Given the description of an element on the screen output the (x, y) to click on. 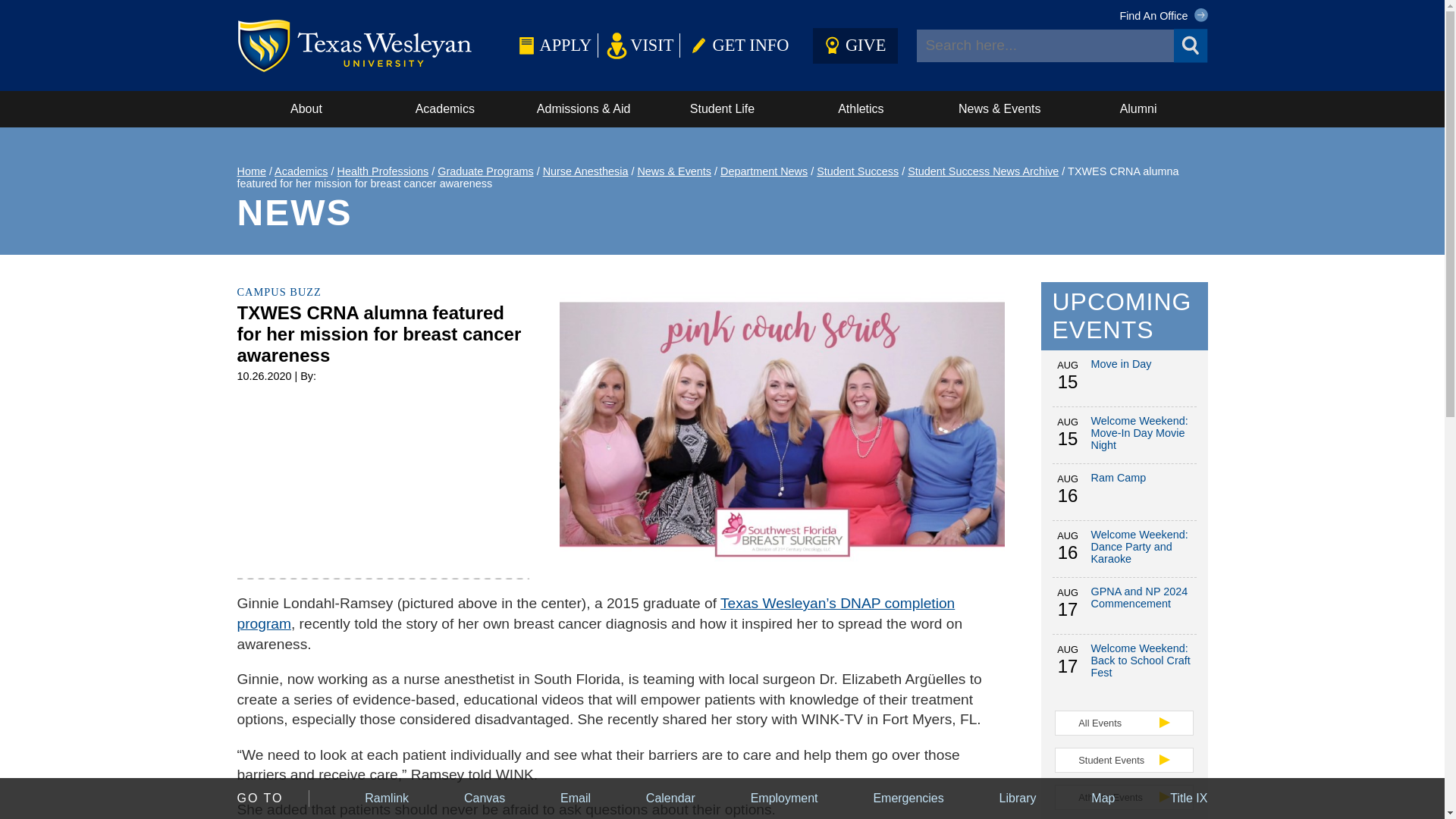
Find An Office (1163, 15)
GIVE (855, 45)
GET INFO (737, 44)
VISIT (638, 44)
Texas Wesleyan University Homepage (373, 44)
Submit Search (1190, 45)
APPLY (551, 44)
